Given the description of an element on the screen output the (x, y) to click on. 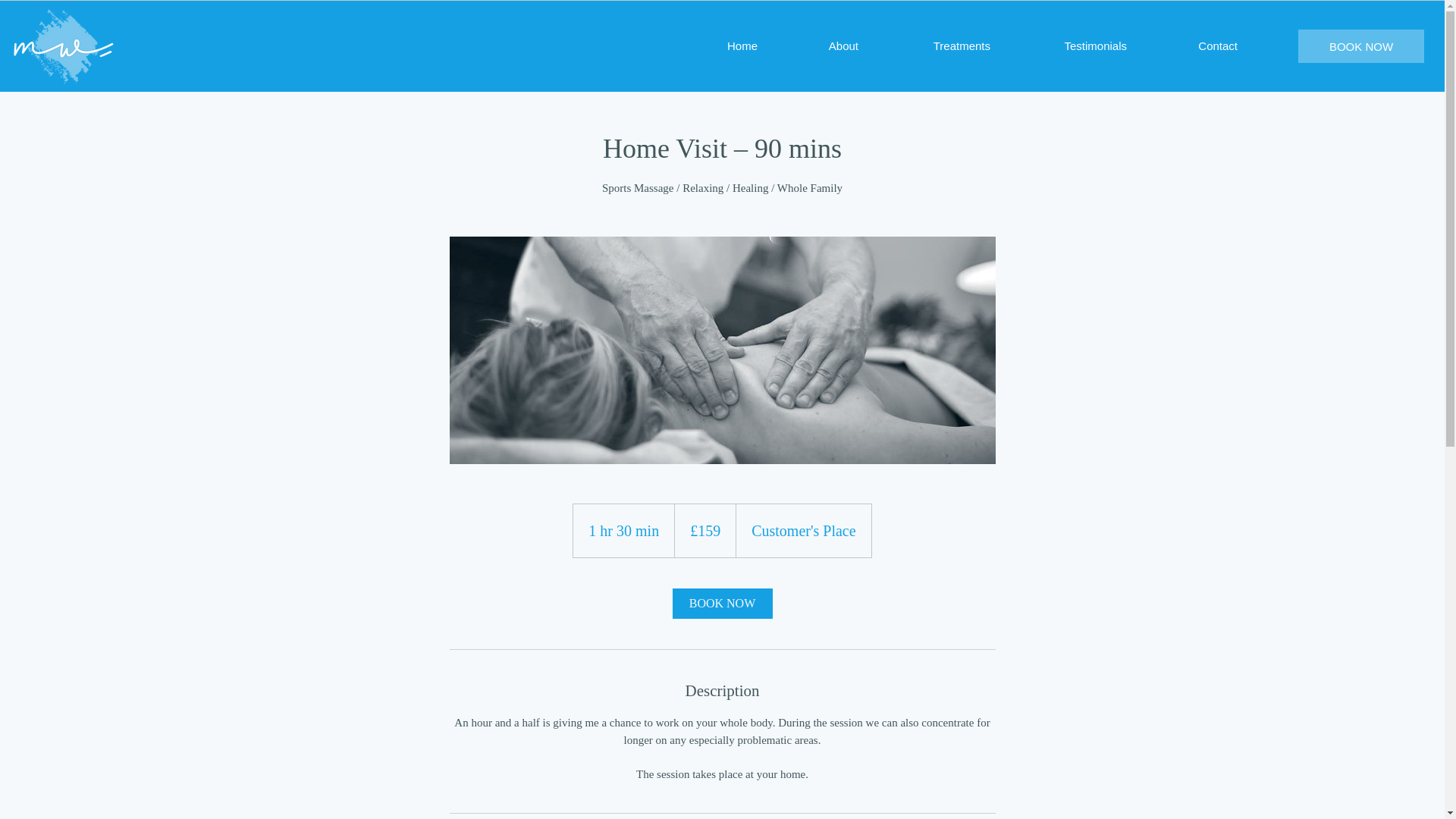
About (818, 46)
BOOK NOW (721, 603)
Home (717, 46)
Testimonials (1069, 46)
Contact (1193, 46)
BOOK NOW (1360, 46)
Treatments (935, 46)
